Given the description of an element on the screen output the (x, y) to click on. 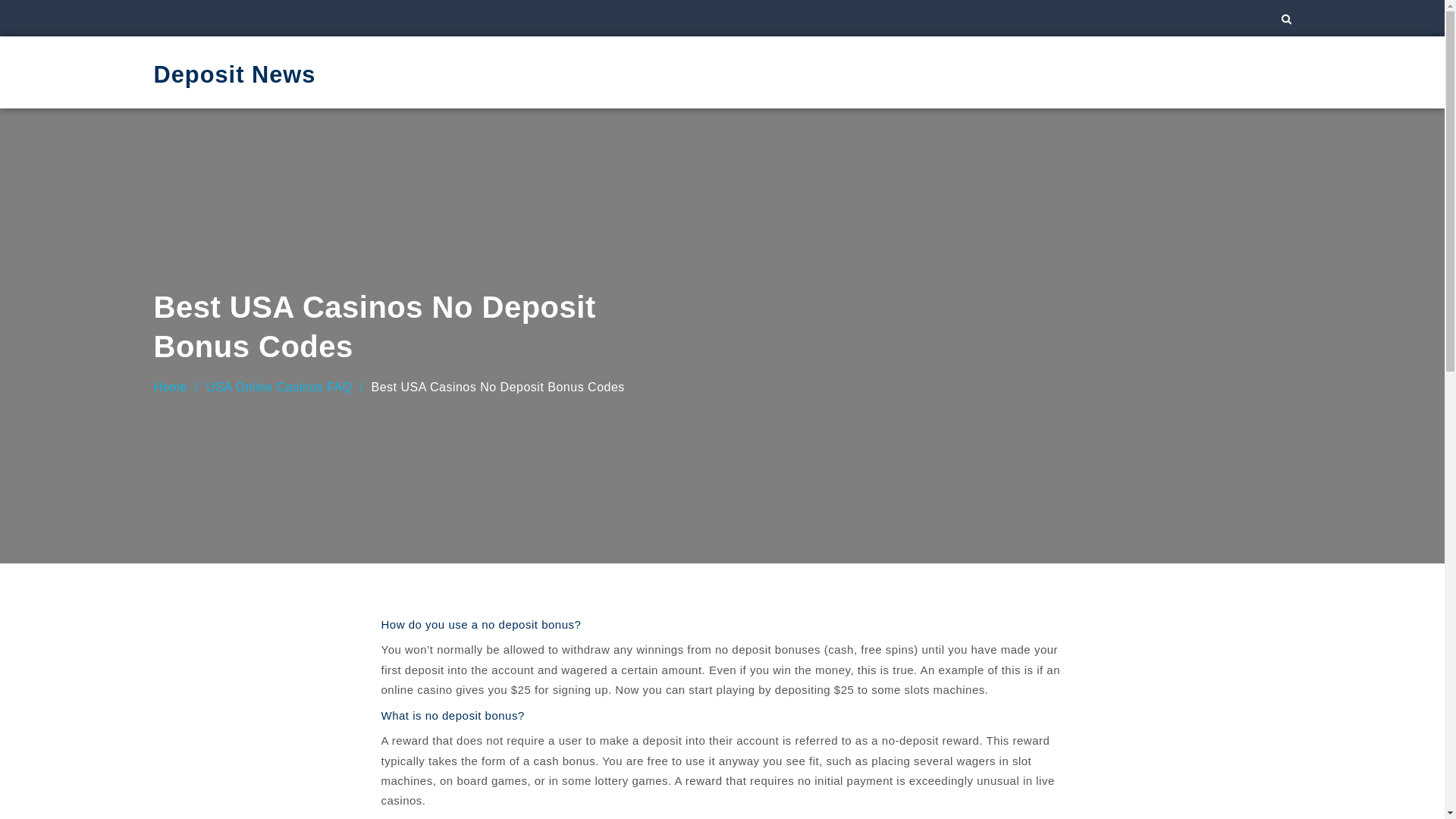
Home (169, 386)
What is no deposit bonus? (452, 714)
Deposit News (233, 73)
USA Online Casinos FAQ (279, 386)
How do you use a no deposit bonus? (480, 623)
